Given the description of an element on the screen output the (x, y) to click on. 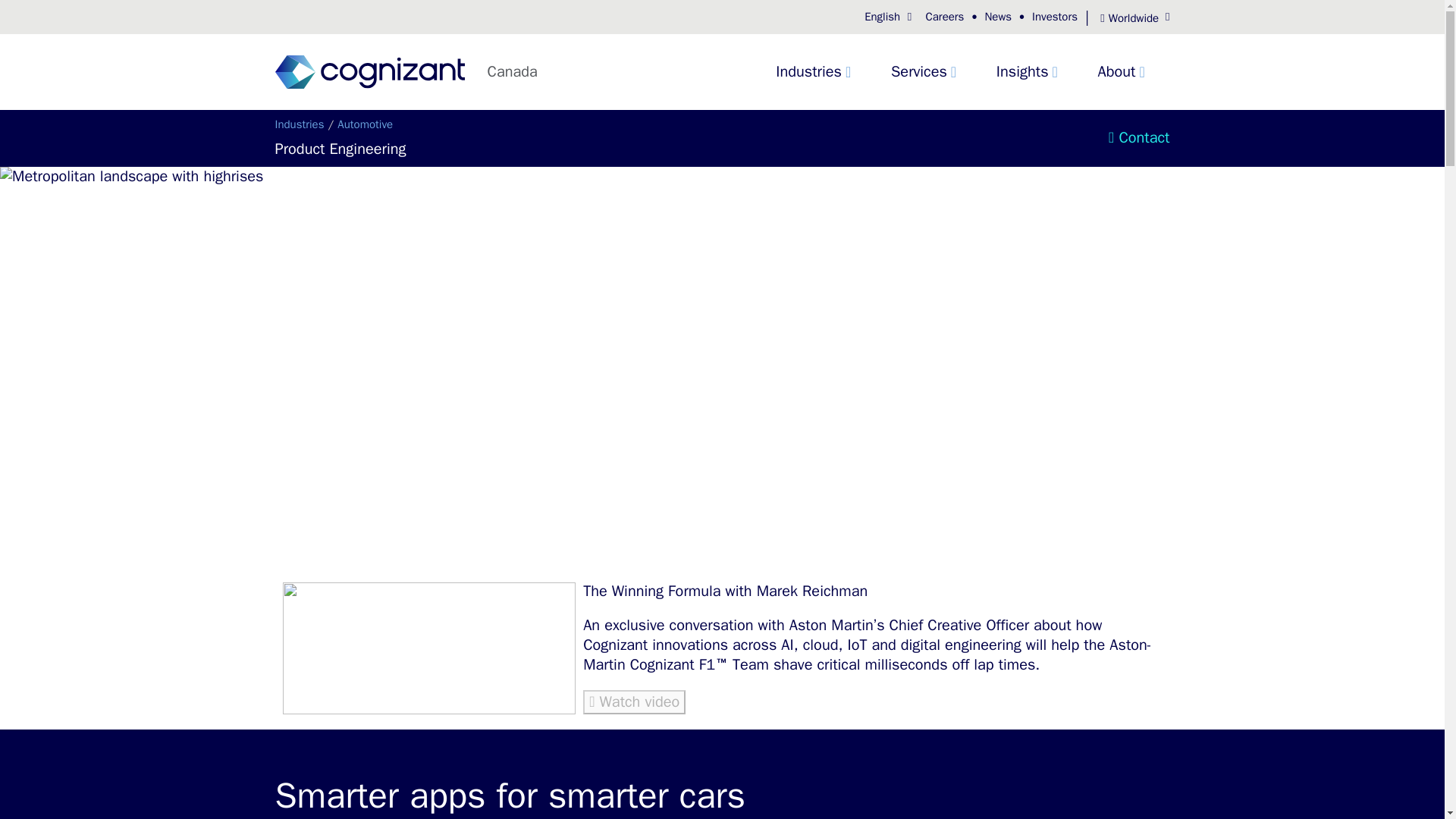
Investors (1054, 17)
Worldwide (1128, 18)
English (888, 17)
Careers (944, 17)
News (997, 17)
